Given the description of an element on the screen output the (x, y) to click on. 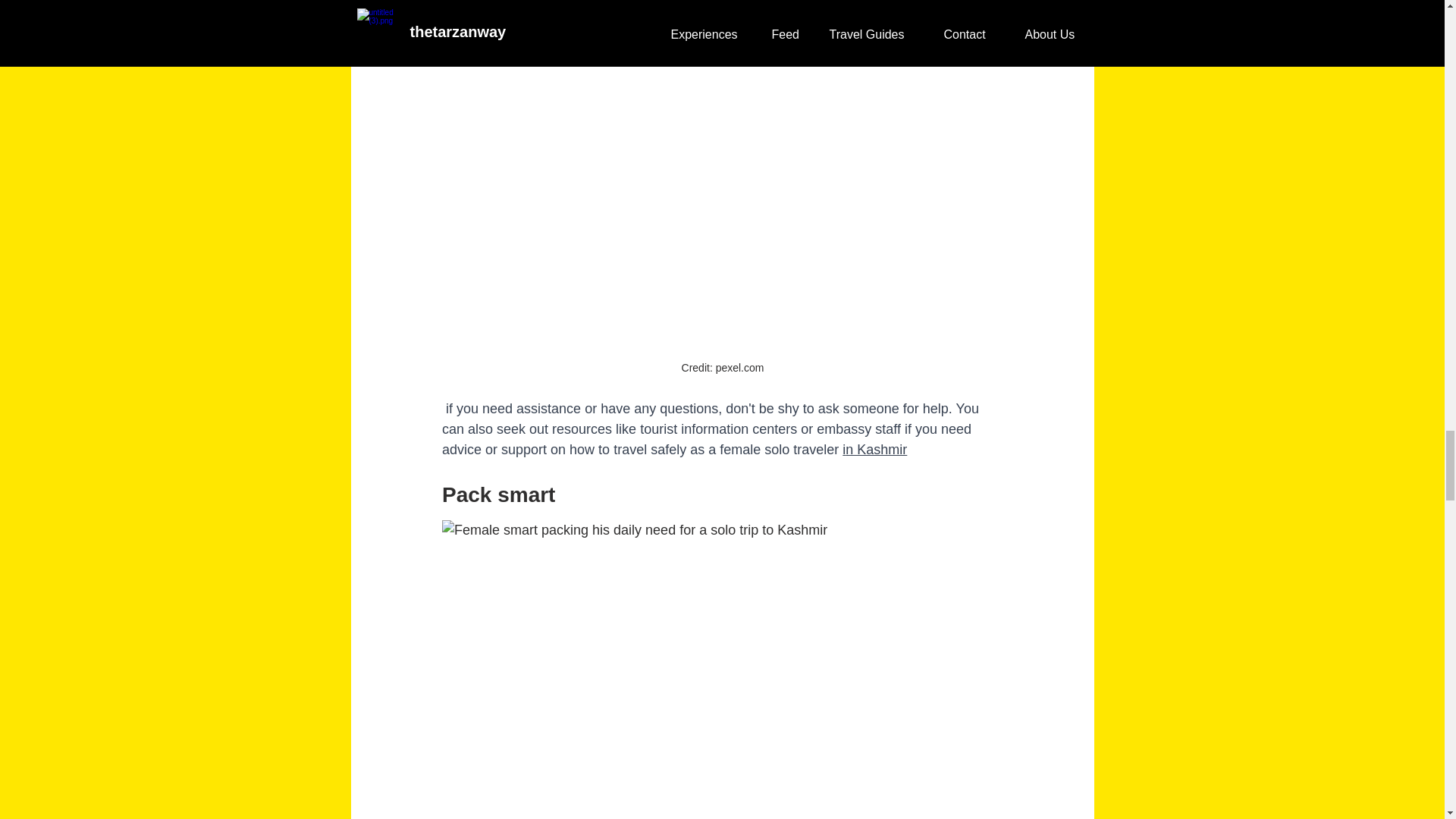
n Kashmir (876, 449)
